Given the description of an element on the screen output the (x, y) to click on. 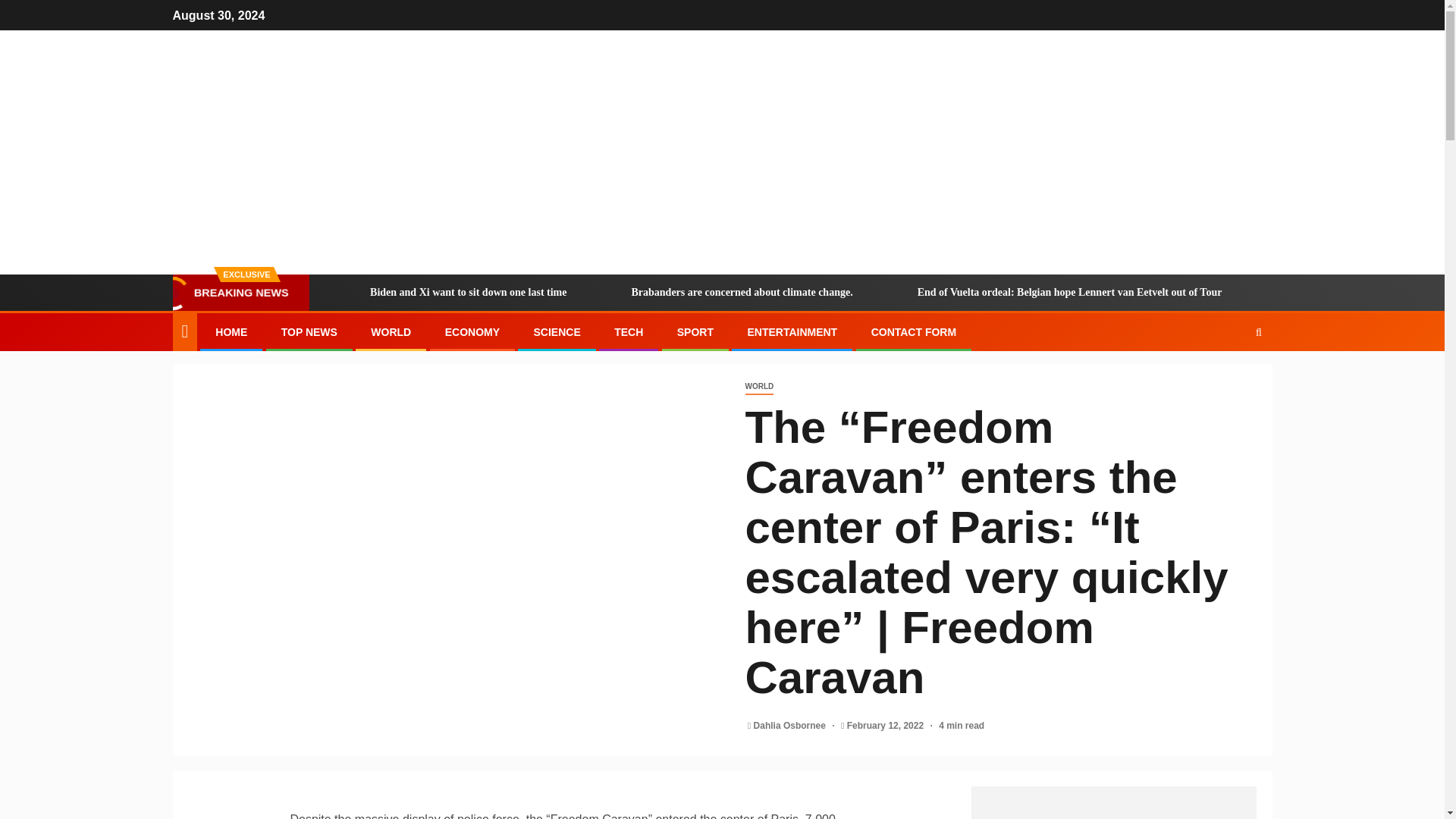
Search (1229, 378)
TECH (628, 331)
Biden and Xi want to sit down one last time (447, 292)
TOP NEWS (309, 331)
HOME (231, 331)
Dahlia Osbornee (791, 725)
Biden and Xi want to sit down one last time (343, 292)
SPORT (695, 331)
